Given the description of an element on the screen output the (x, y) to click on. 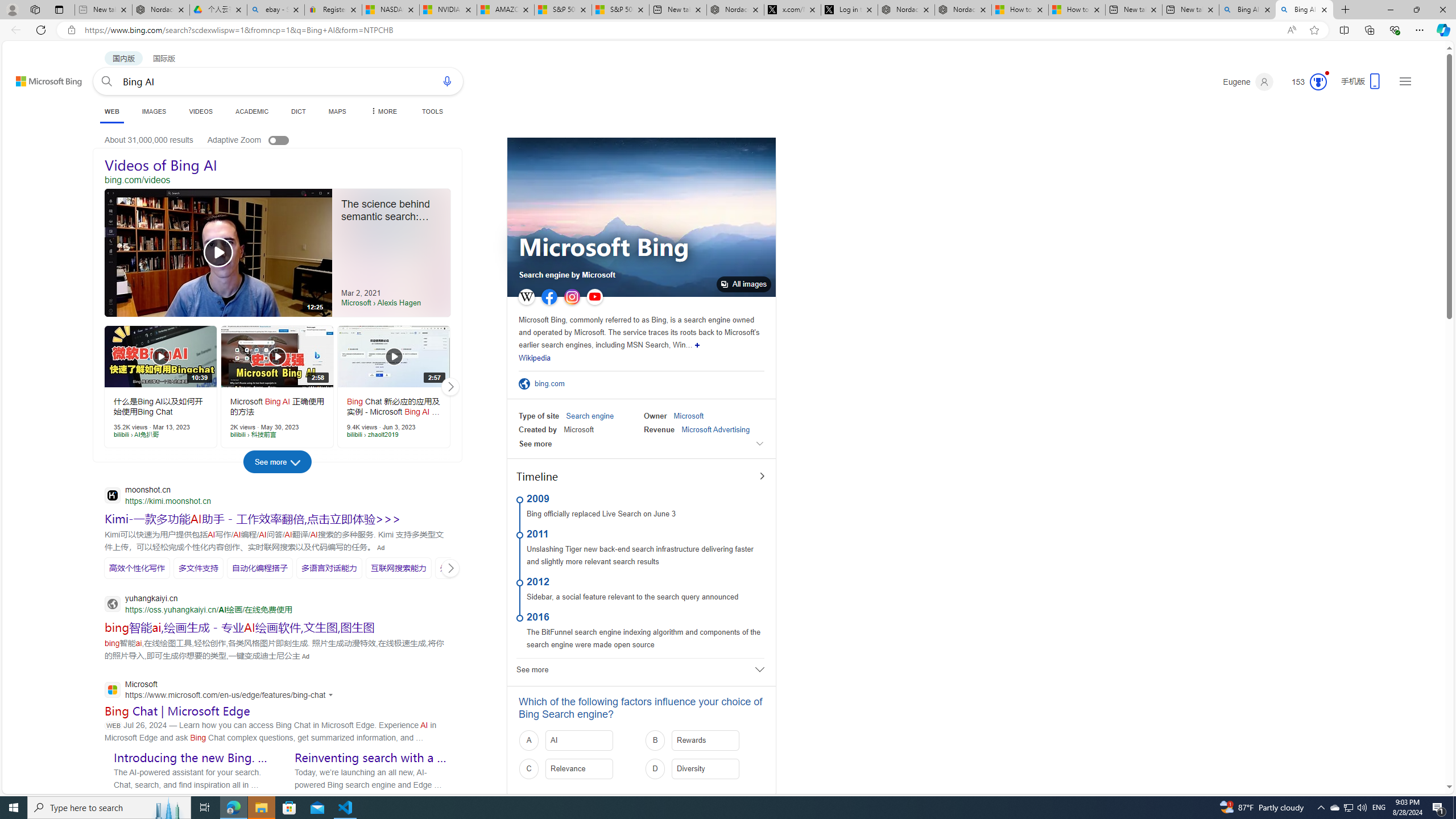
Actions for this site (331, 695)
How to Use a Monitor With Your Closed Laptop (1076, 9)
MAPS (336, 111)
Bing AI - Search (1304, 9)
Timeline (640, 476)
Settings and quick links (1404, 80)
